Given the description of an element on the screen output the (x, y) to click on. 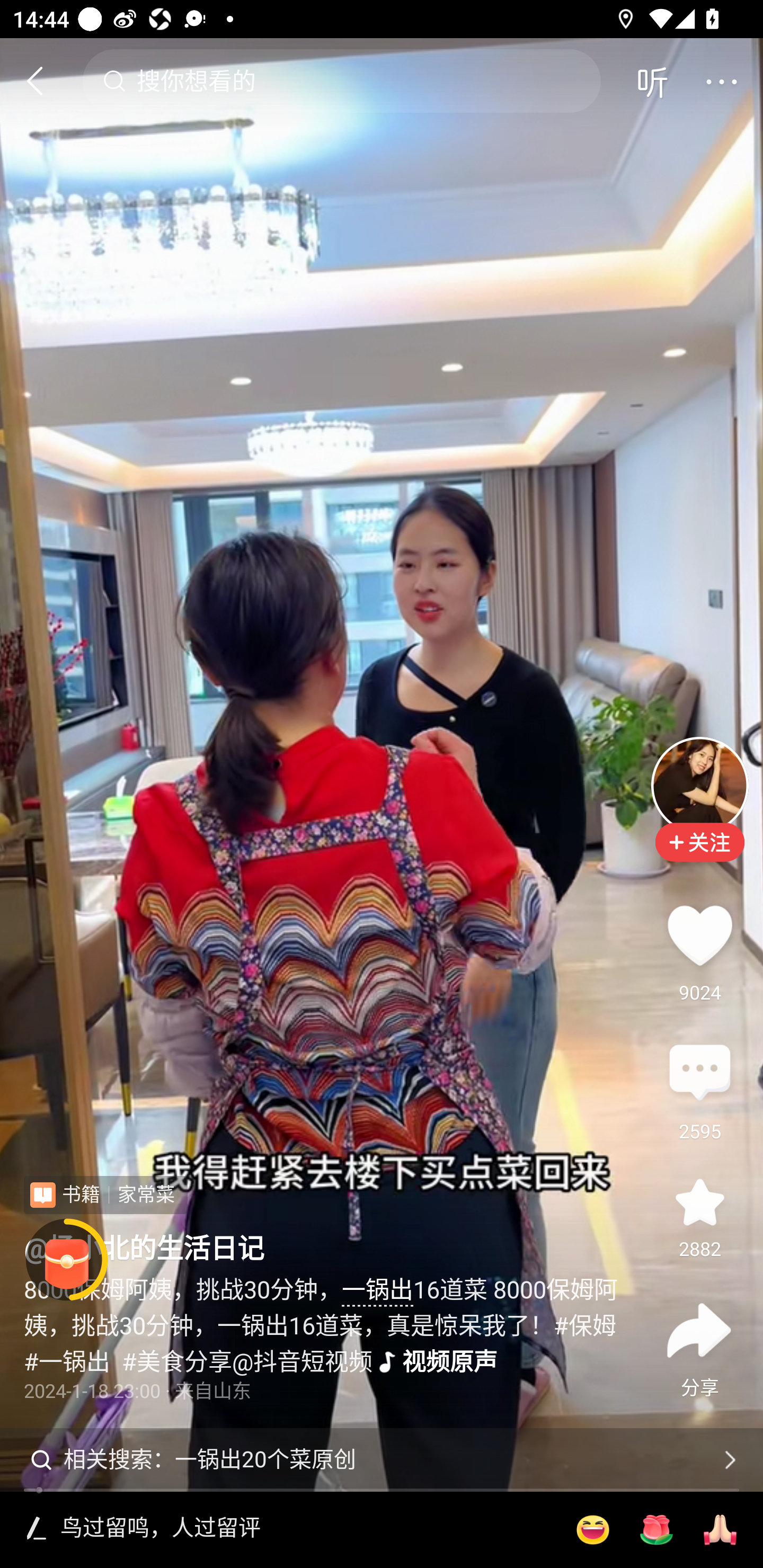
搜你想看的 搜索框，搜你想看的 (341, 80)
返回 (43, 80)
音频 (651, 80)
更多操作 (720, 80)
头像 (699, 785)
点赞9024 9024 (699, 935)
评论2595 评论 2595 (699, 1074)
收藏 2882 (699, 1201)
书籍｜家常菜 (105, 1194)
阅读赚金币 (66, 1259)
分享 (699, 1330)
相关搜索：一锅出20个菜原创 (381, 1459)
鸟过留鸣，人过留评 (305, 1529)
[大笑] (592, 1530)
[玫瑰] (656, 1530)
[祈祷] (719, 1530)
